Given the description of an element on the screen output the (x, y) to click on. 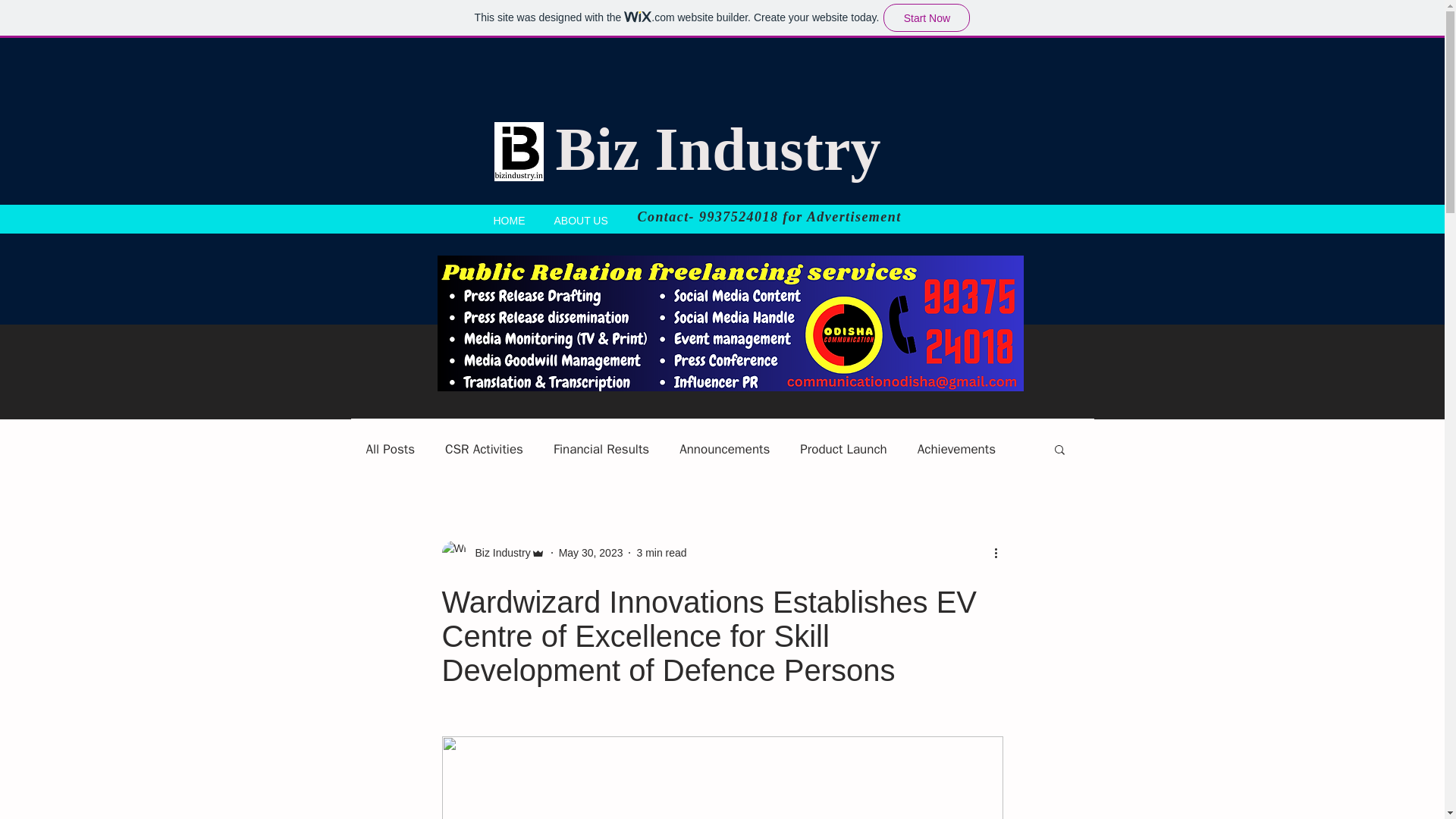
May 30, 2023 (591, 551)
Achievements (956, 448)
CSR Activities (483, 448)
Announcements (724, 448)
Product Launch (842, 448)
HOME (509, 218)
All Posts (389, 448)
Biz Industry (497, 552)
3 min read (660, 551)
ABOUT US (581, 218)
